Given the description of an element on the screen output the (x, y) to click on. 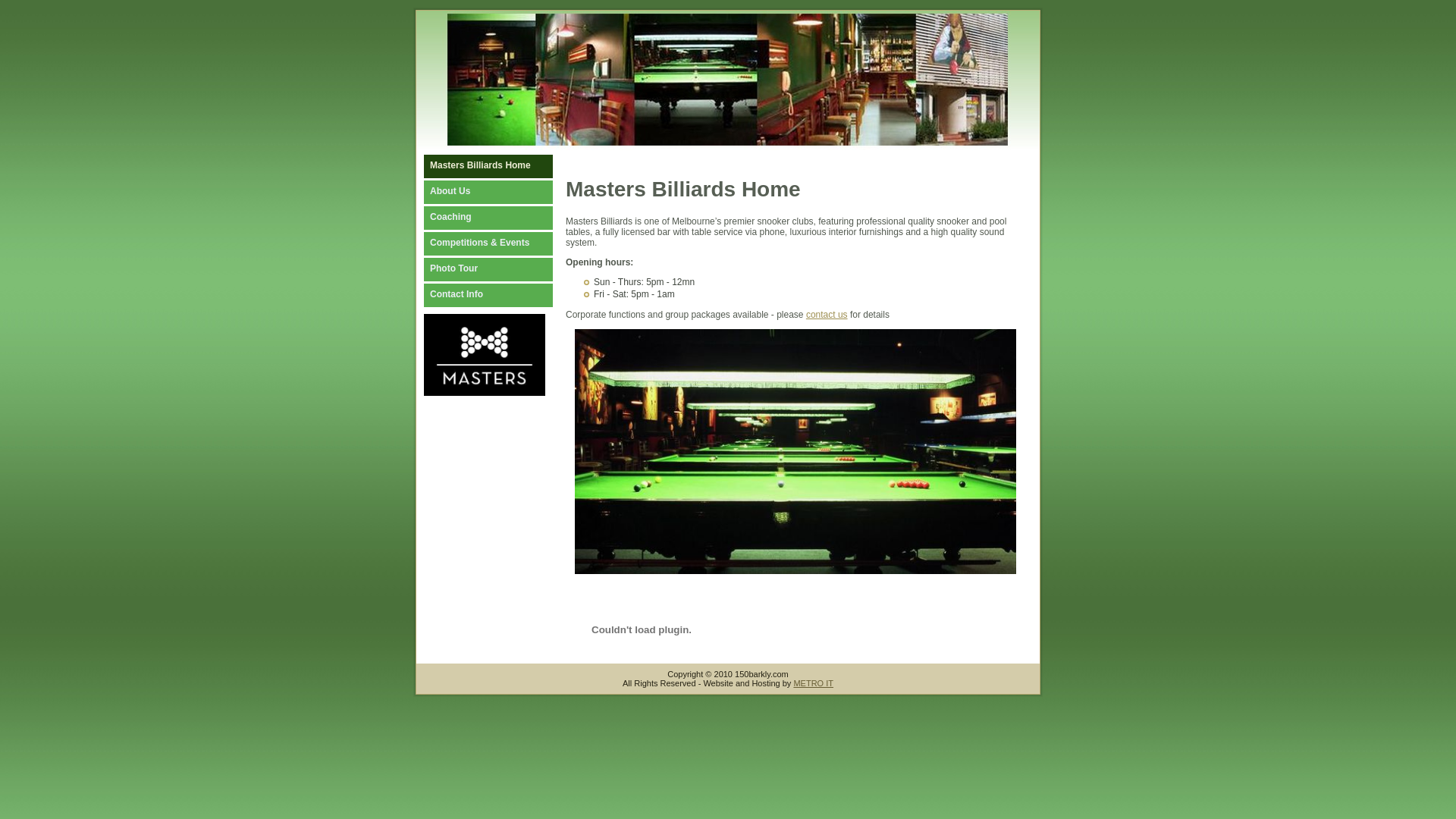
Masters Billiards Home Element type: text (503, 166)
Competitions & Events Element type: text (503, 243)
Image Element type: hover (795, 451)
Photo Tour Element type: text (503, 269)
Contact Info Element type: text (503, 295)
About Us Element type: text (503, 191)
contact us Element type: text (826, 314)
METRO IT Element type: text (813, 682)
Coaching Element type: text (503, 217)
